Given the description of an element on the screen output the (x, y) to click on. 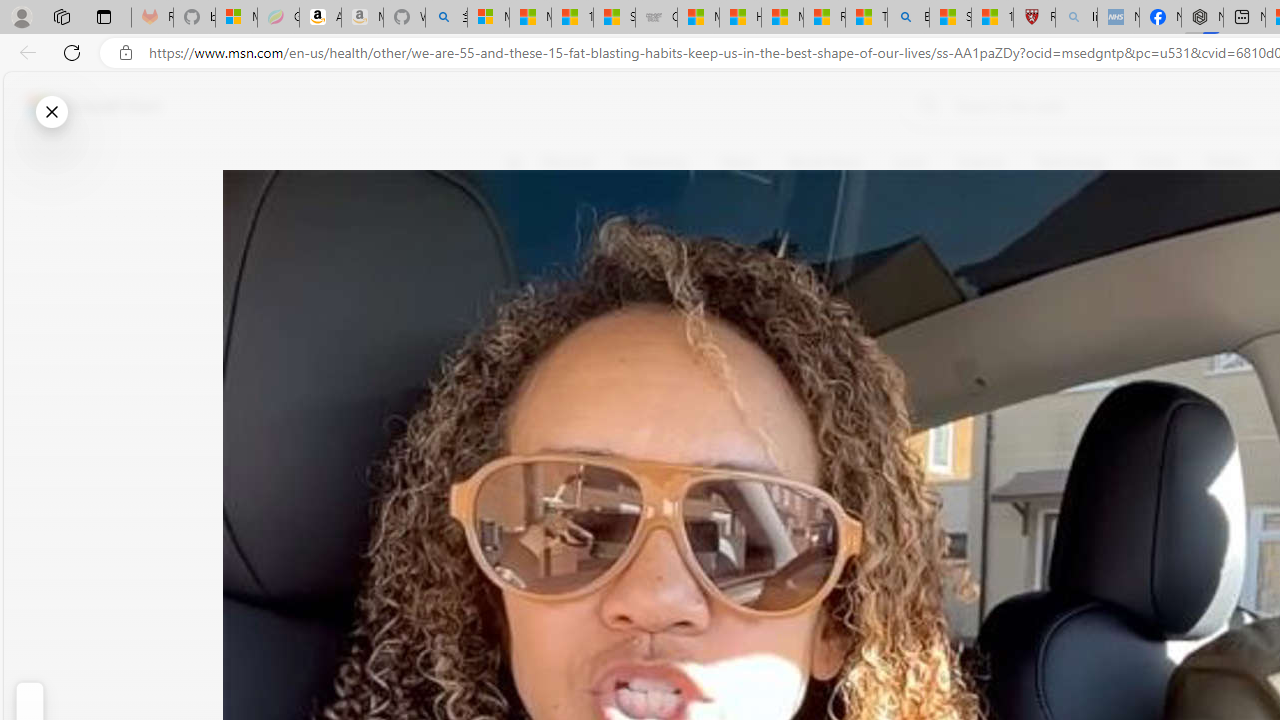
6 (525, 300)
Technology (1071, 162)
Bing (908, 17)
Recipes - MSN (823, 17)
Start the conversation (525, 356)
Stocks - MSN (613, 17)
